Given the description of an element on the screen output the (x, y) to click on. 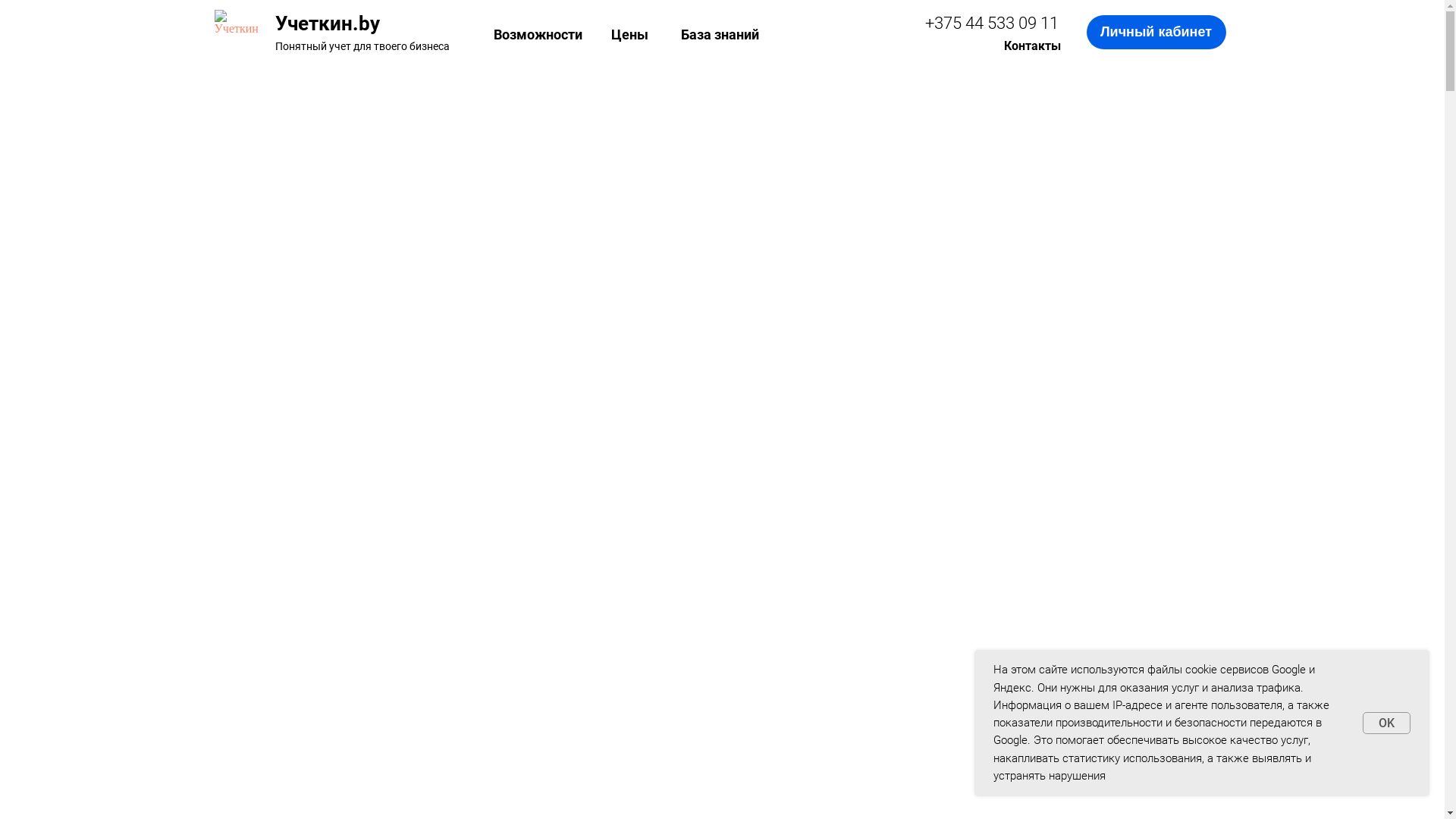
+375 44 533 09 11 Element type: text (991, 22)
